Given the description of an element on the screen output the (x, y) to click on. 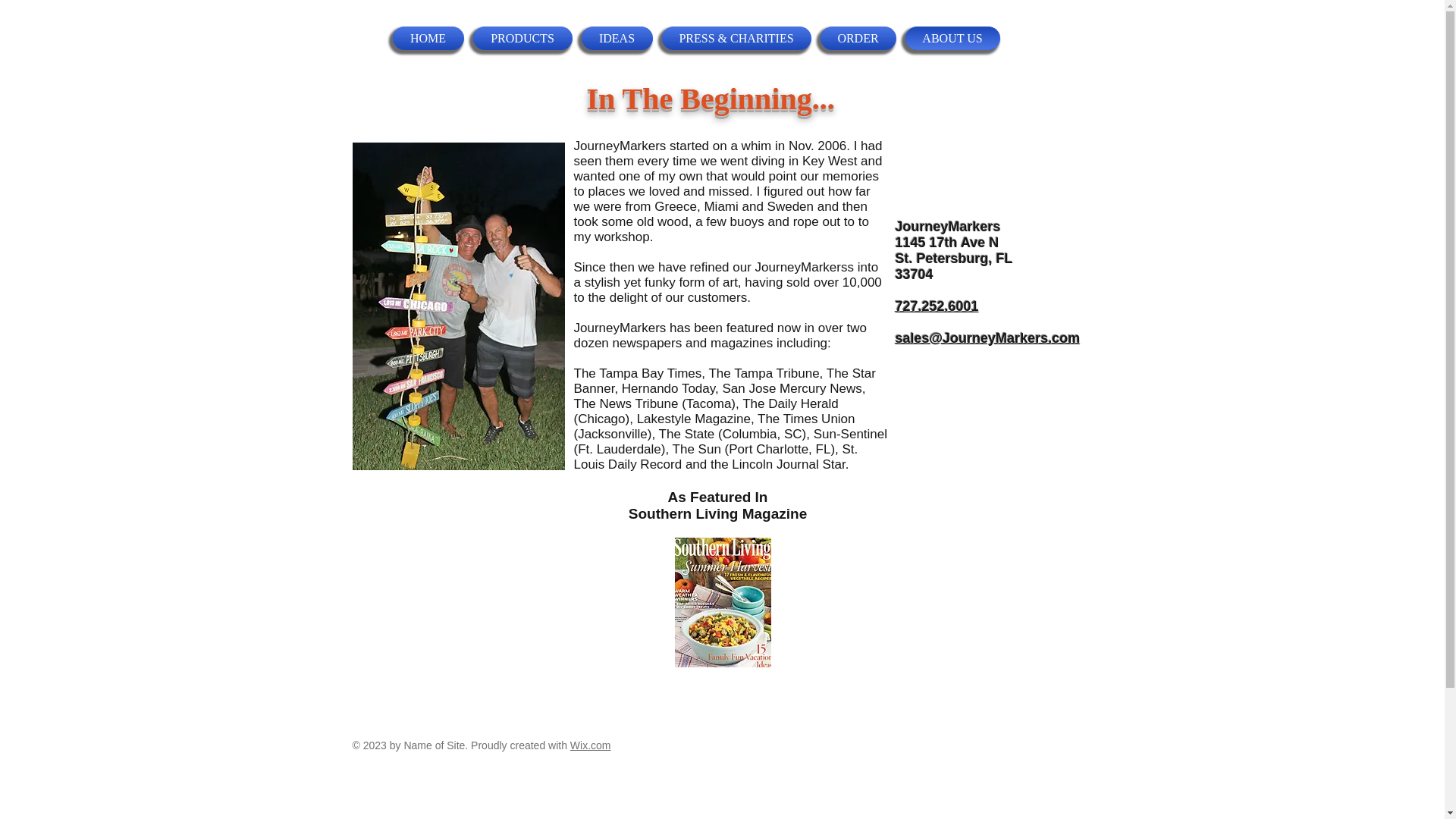
IDEAS (616, 37)
ORDER (858, 37)
Wix.com (590, 745)
727.252.6001 (936, 305)
HOME (430, 37)
ABOUT US (950, 37)
